Given the description of an element on the screen output the (x, y) to click on. 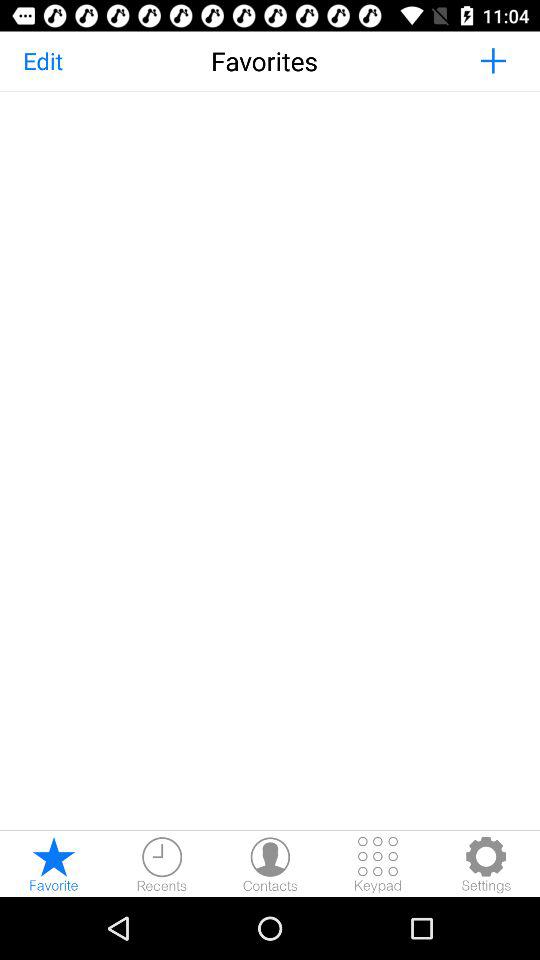
keypad option (377, 864)
